Given the description of an element on the screen output the (x, y) to click on. 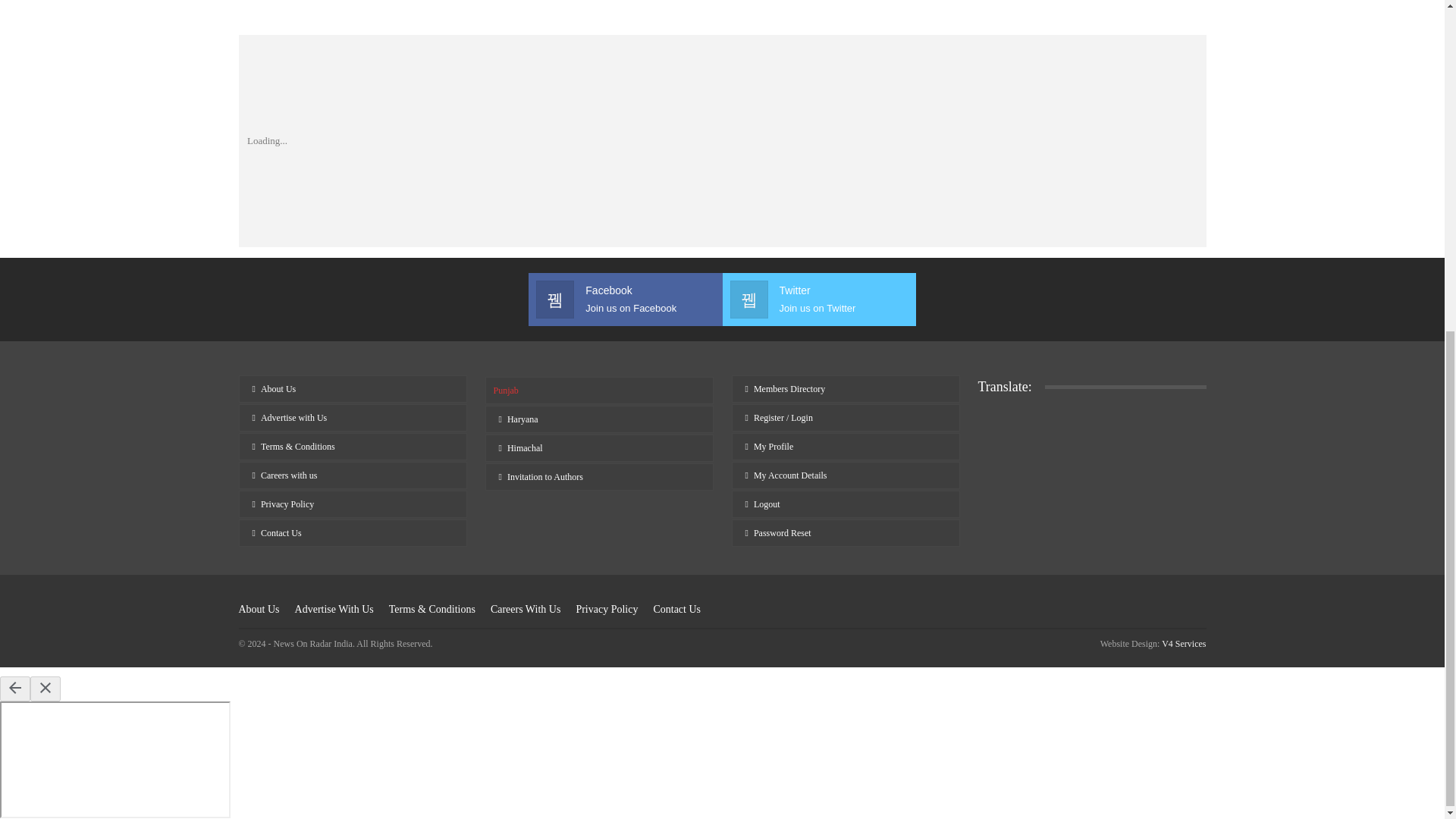
About Us (351, 388)
Privacy Policy (351, 503)
My Profile (844, 446)
Members Directory (844, 388)
Himachal (598, 447)
Punjab (818, 298)
Advertise with Us (624, 298)
